Given the description of an element on the screen output the (x, y) to click on. 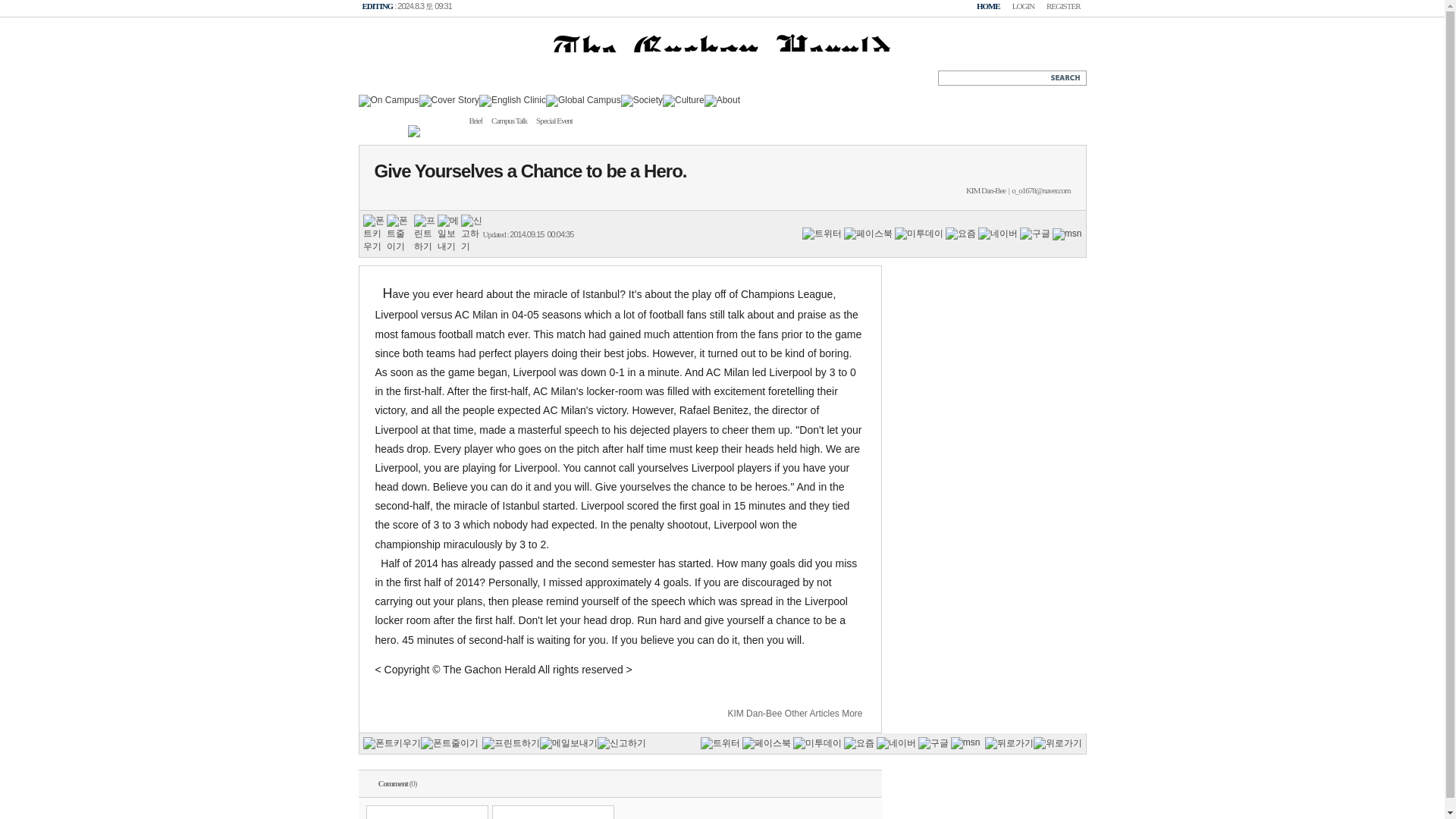
Cover Story (449, 100)
About (721, 99)
Society (641, 99)
The Gachon Herald (721, 78)
Cover Story (449, 99)
About (721, 100)
Special Event (553, 120)
REGISTER (1063, 6)
English Clinic (512, 100)
Society (641, 100)
